Given the description of an element on the screen output the (x, y) to click on. 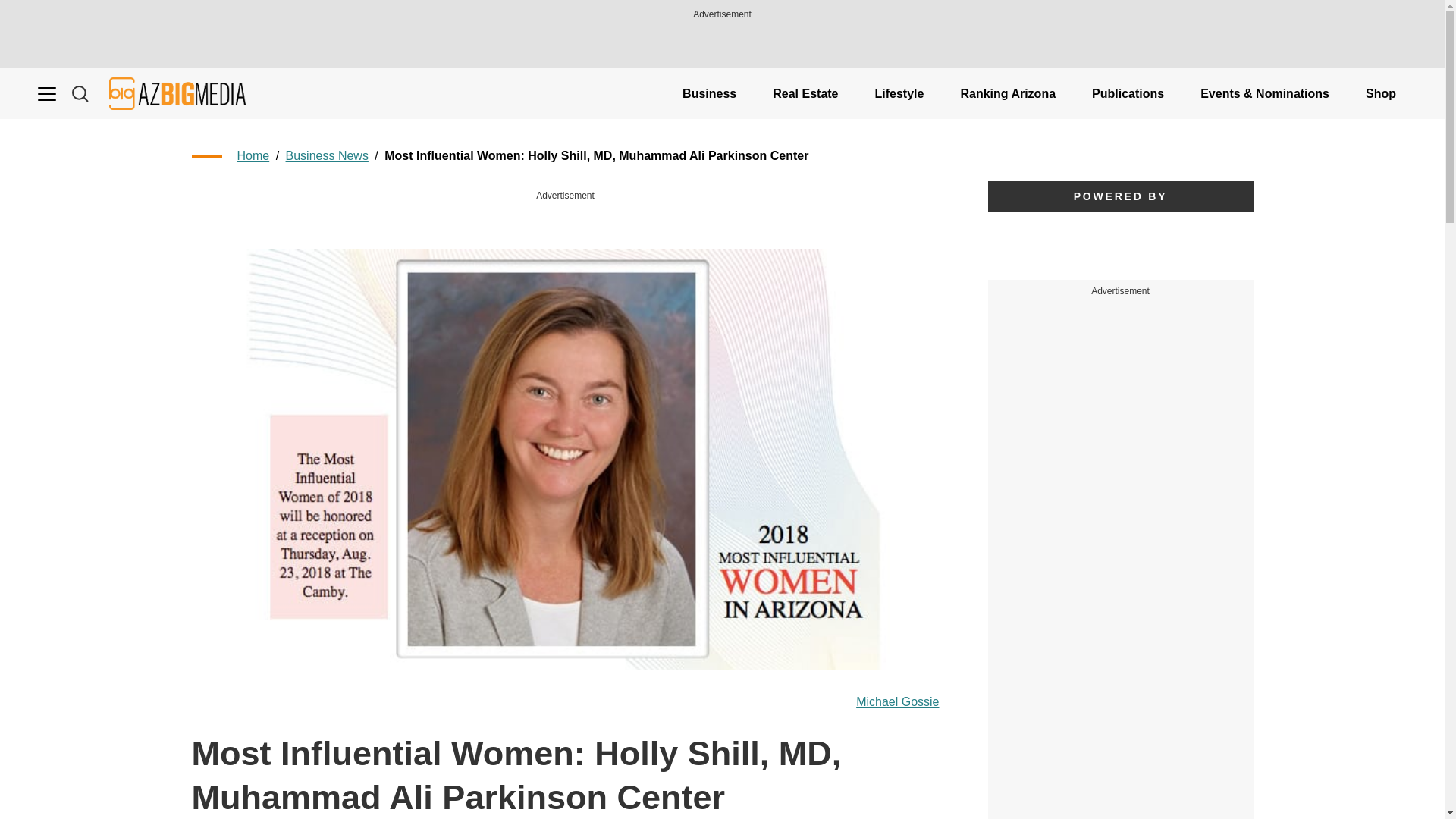
AZ Big Media Logo (177, 92)
Business (708, 92)
Posts by Michael Gossie (897, 702)
